Given the description of an element on the screen output the (x, y) to click on. 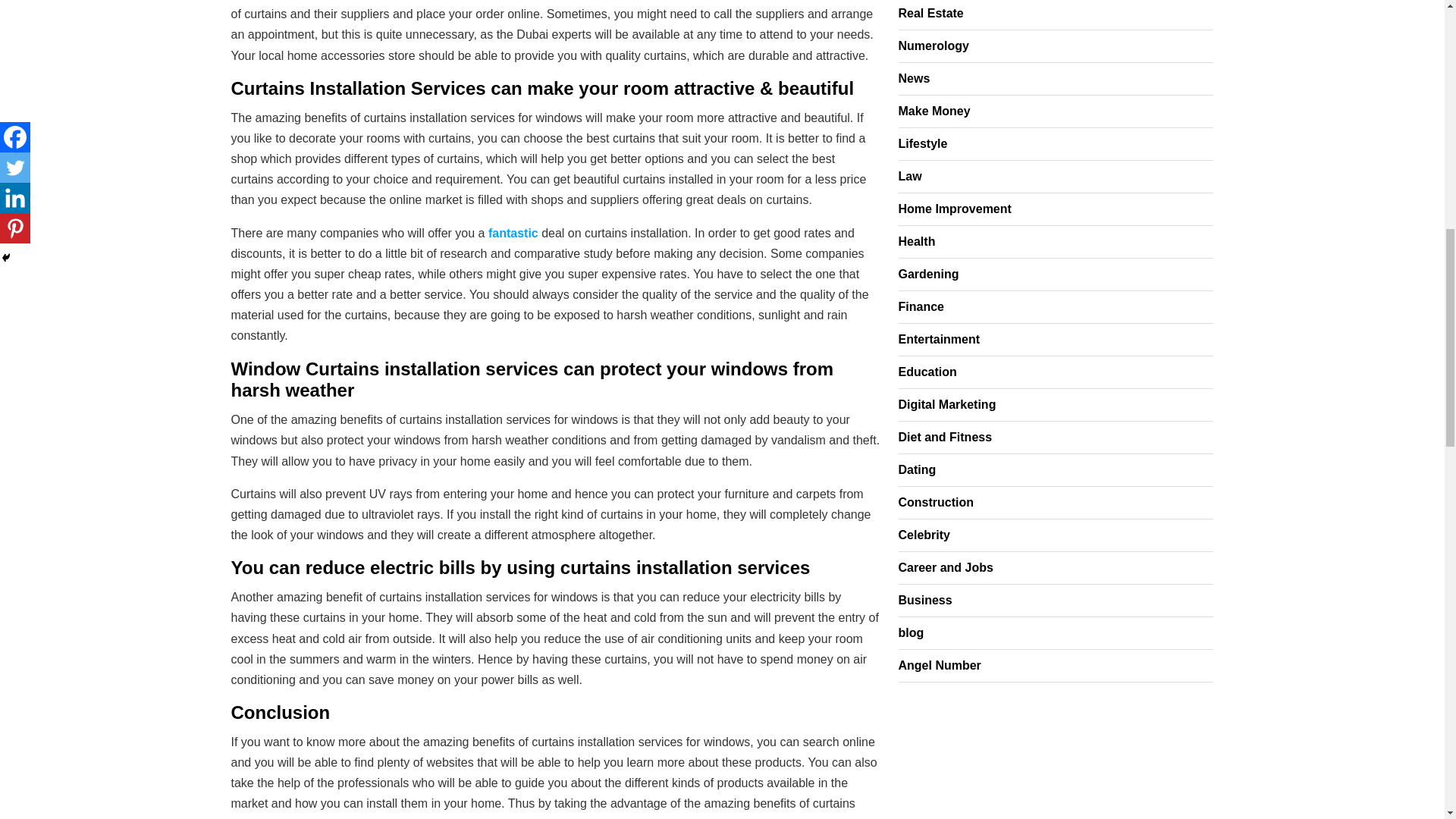
fantastic (512, 232)
